Given the description of an element on the screen output the (x, y) to click on. 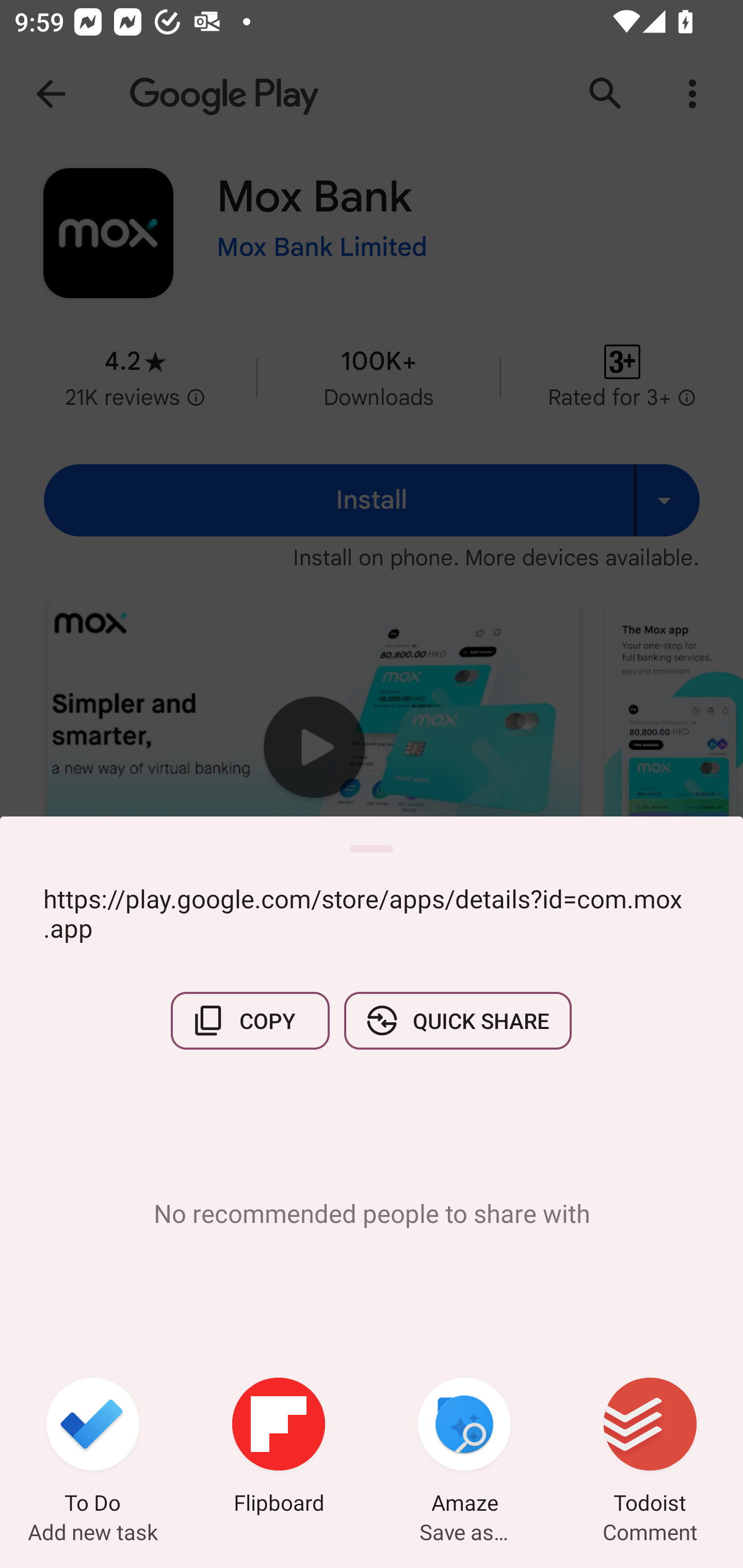
COPY (249, 1020)
QUICK SHARE (457, 1020)
To Do Add new task (92, 1448)
Flipboard (278, 1448)
Amaze Save as… (464, 1448)
Todoist Comment (650, 1448)
